Given the description of an element on the screen output the (x, y) to click on. 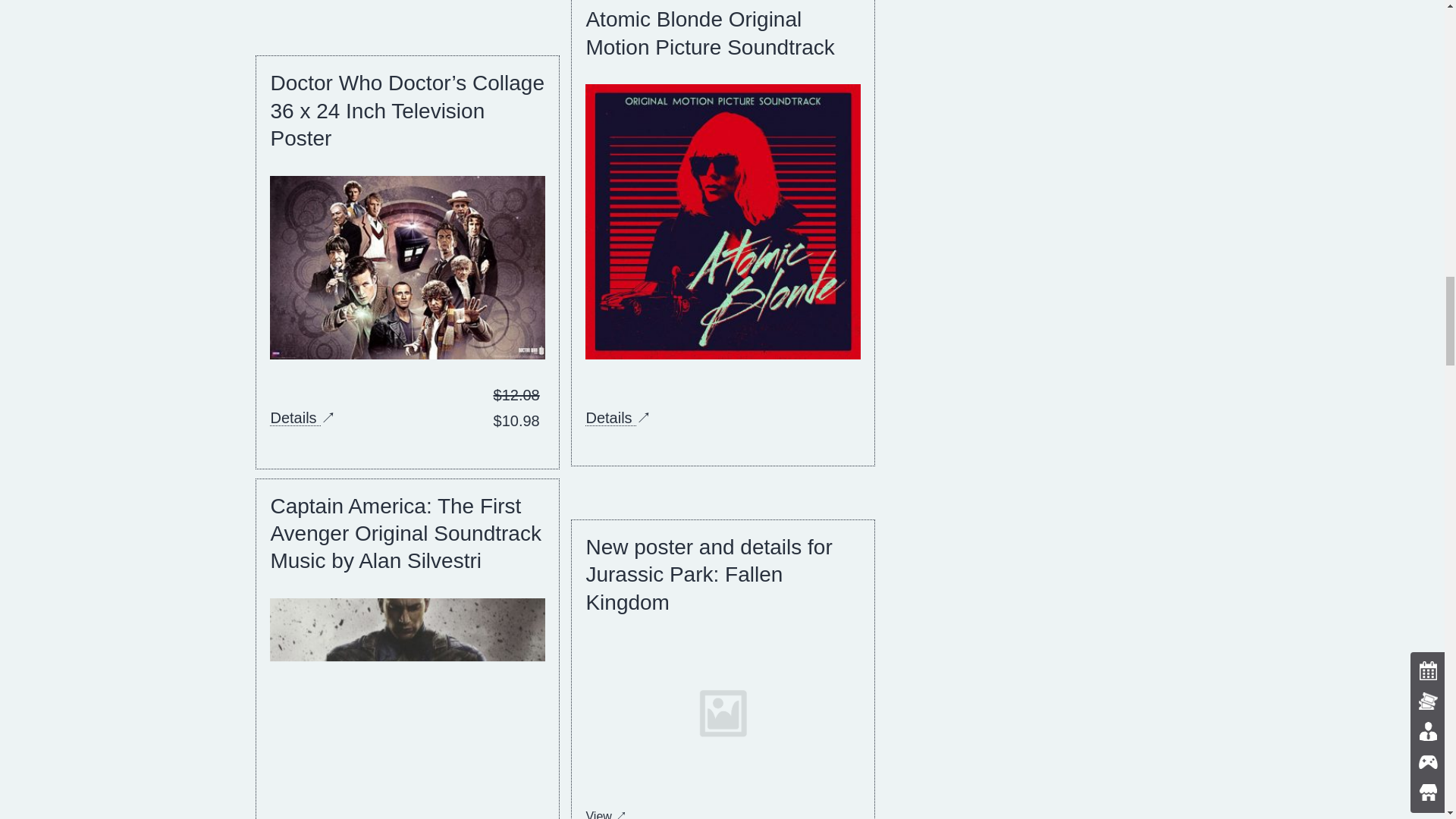
Details (610, 417)
New poster and details for Jurassic Park: Fallen Kingdom (708, 574)
Details (294, 417)
Atomic Blonde Original Motion Picture Soundtrack (709, 32)
